Given the description of an element on the screen output the (x, y) to click on. 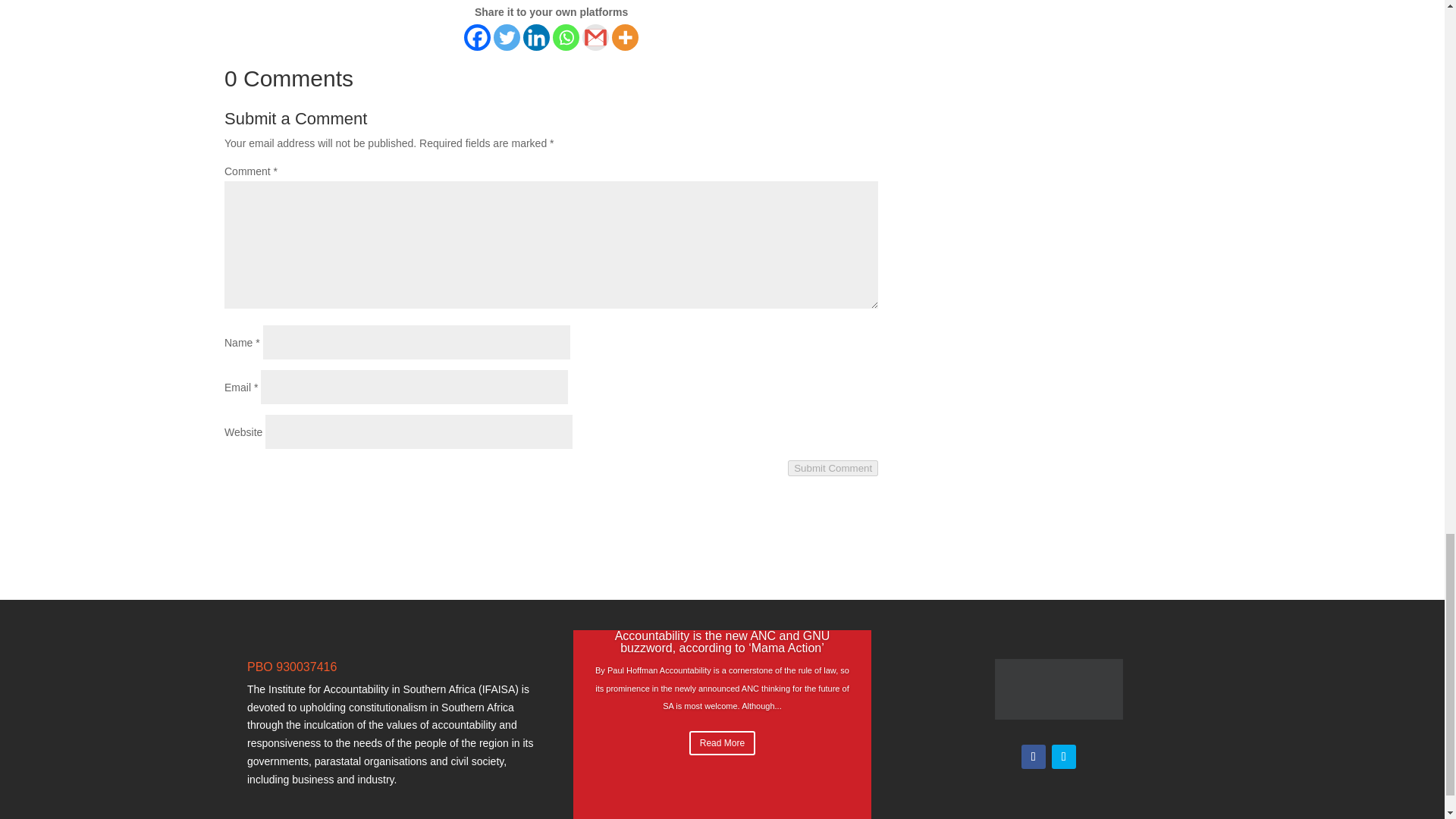
Linkedin (536, 37)
Twitter (506, 37)
Whatsapp (566, 37)
Facebook (477, 37)
Google Gmail (595, 37)
More (625, 37)
